Given the description of an element on the screen output the (x, y) to click on. 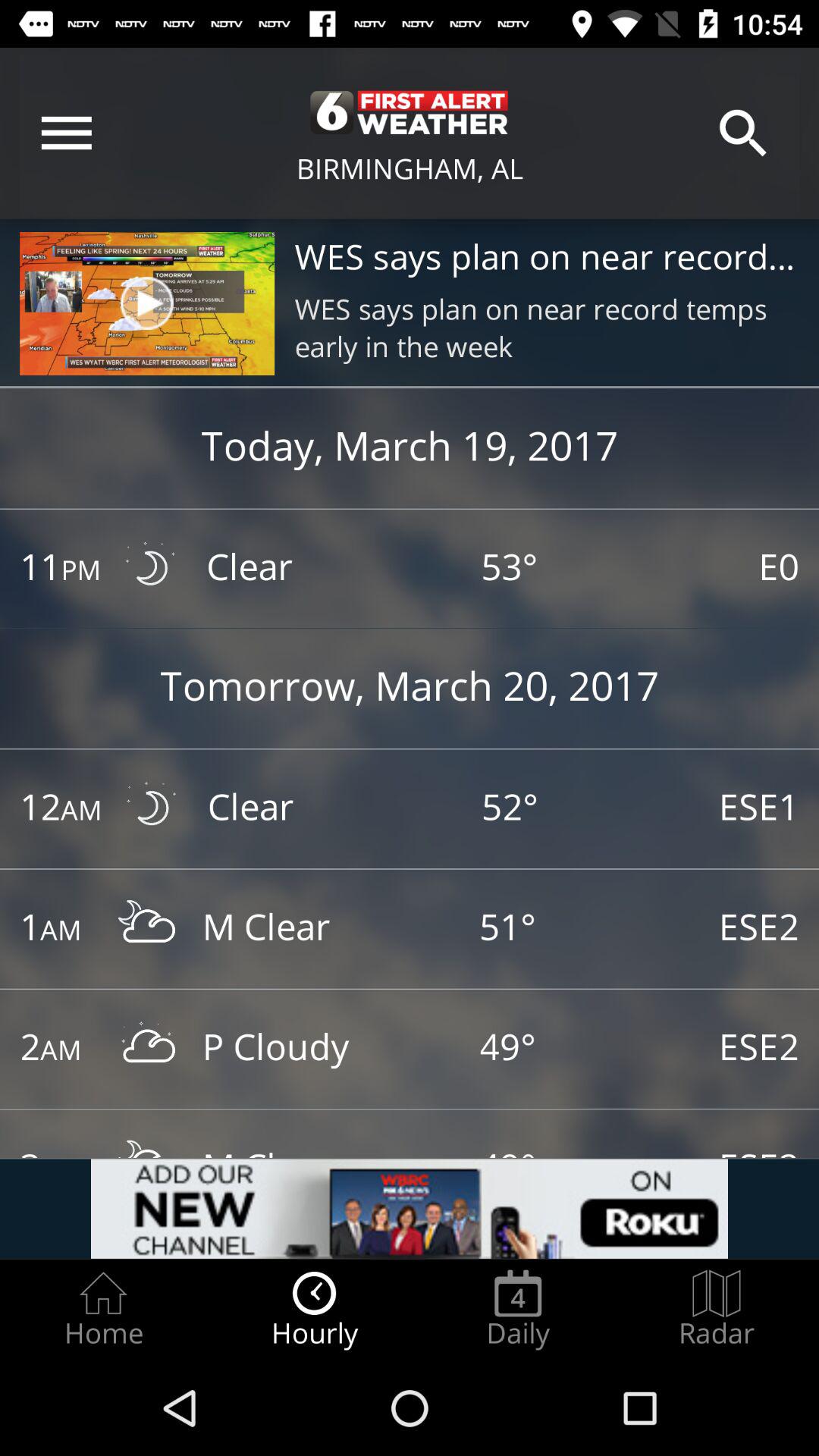
launch item to the right of hourly item (518, 1309)
